Given the description of an element on the screen output the (x, y) to click on. 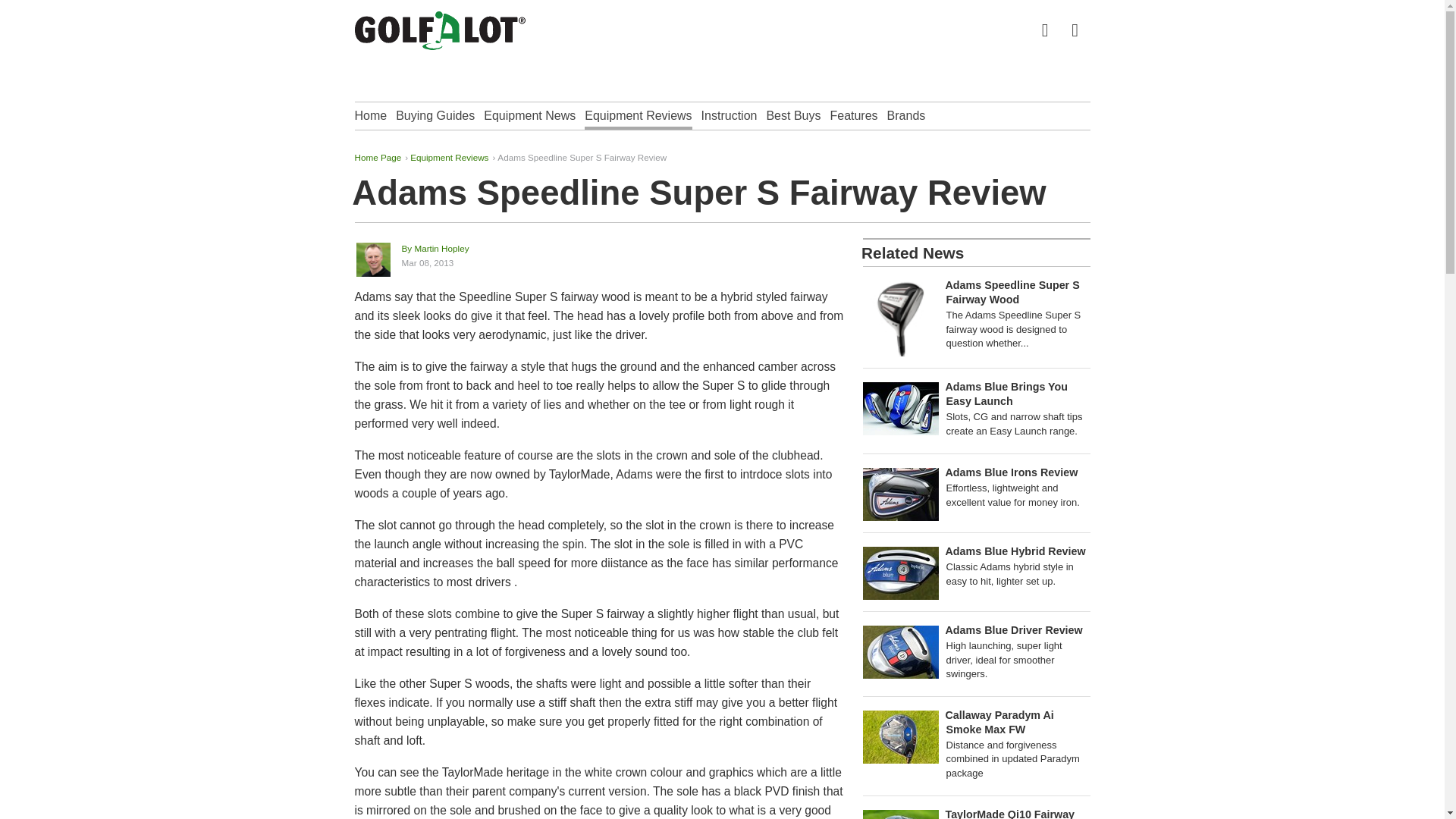
Home (371, 115)
Equipment News (529, 115)
Home Page (378, 157)
Features (853, 115)
Instruction (729, 115)
Buying Guides (435, 115)
